Given the description of an element on the screen output the (x, y) to click on. 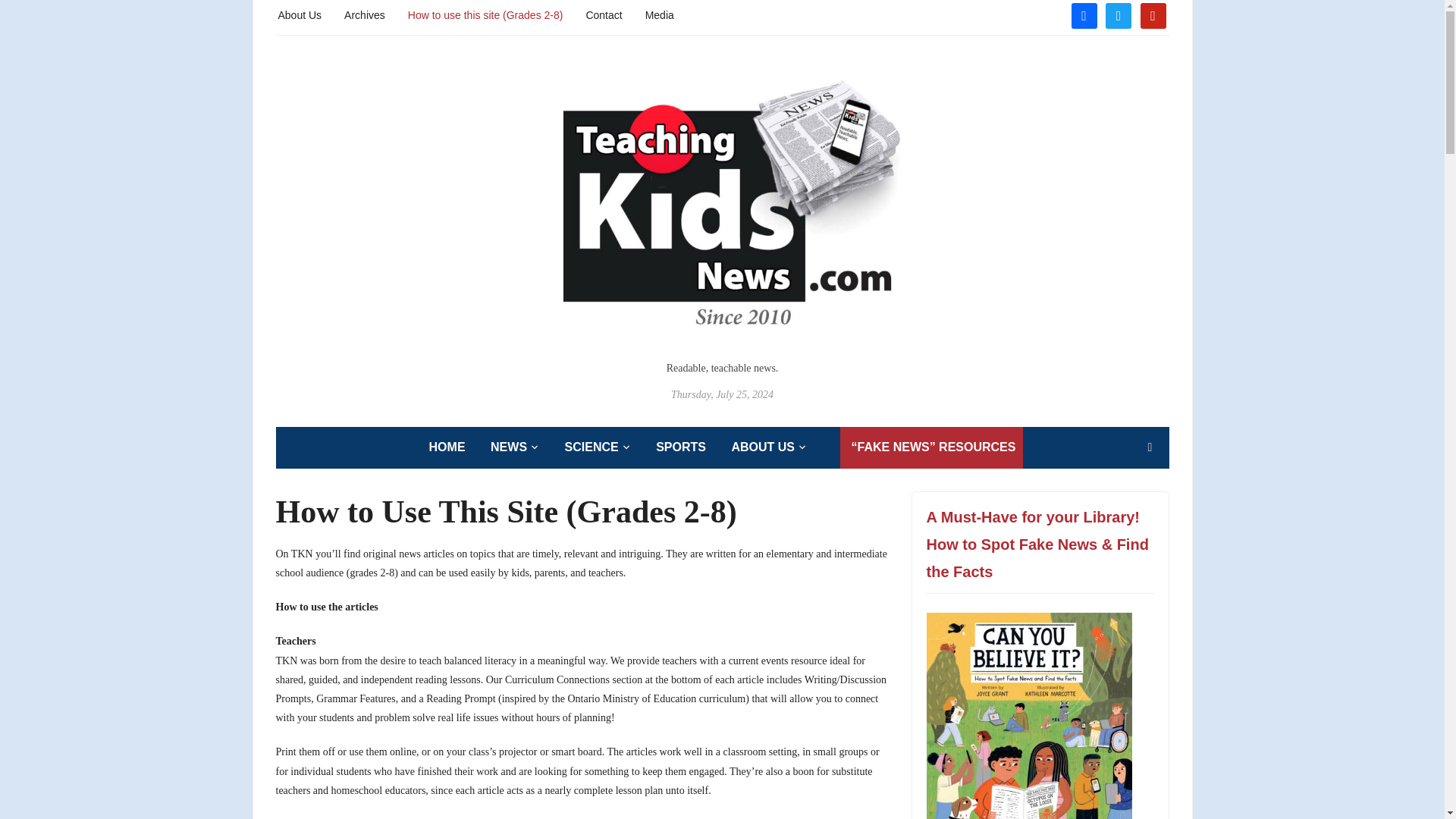
Past articles (364, 14)
twitter (1118, 14)
NEWS (514, 447)
Want to reach us? (603, 14)
Contact (603, 14)
HOME (447, 447)
pinterest (1153, 14)
Friend me on Facebook (1083, 14)
Archives (364, 14)
About Us (299, 14)
Follow Me (1118, 14)
Media (659, 14)
Search (1149, 447)
facebook (1083, 14)
About the owners of TKN (299, 14)
